Given the description of an element on the screen output the (x, y) to click on. 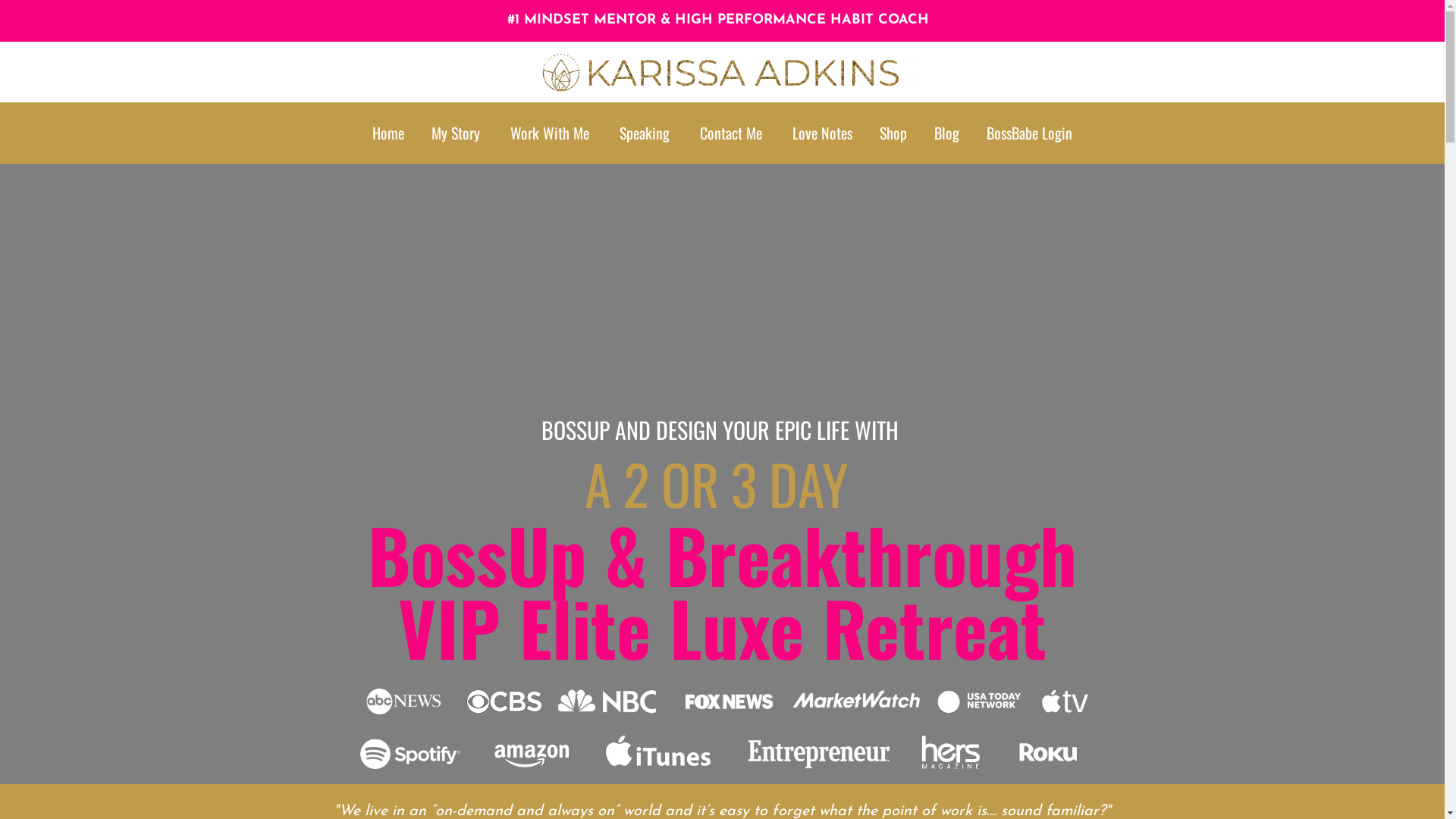
Contact Me Element type: text (730, 132)
BossBabe Login Element type: text (1029, 132)
Work With Me Element type: text (549, 132)
Home Element type: text (388, 132)
Love Notes Element type: text (822, 132)
Speaking Element type: text (644, 132)
Shop Element type: text (892, 132)
My Story Element type: text (455, 132)
Blog Element type: text (946, 132)
